Given the description of an element on the screen output the (x, y) to click on. 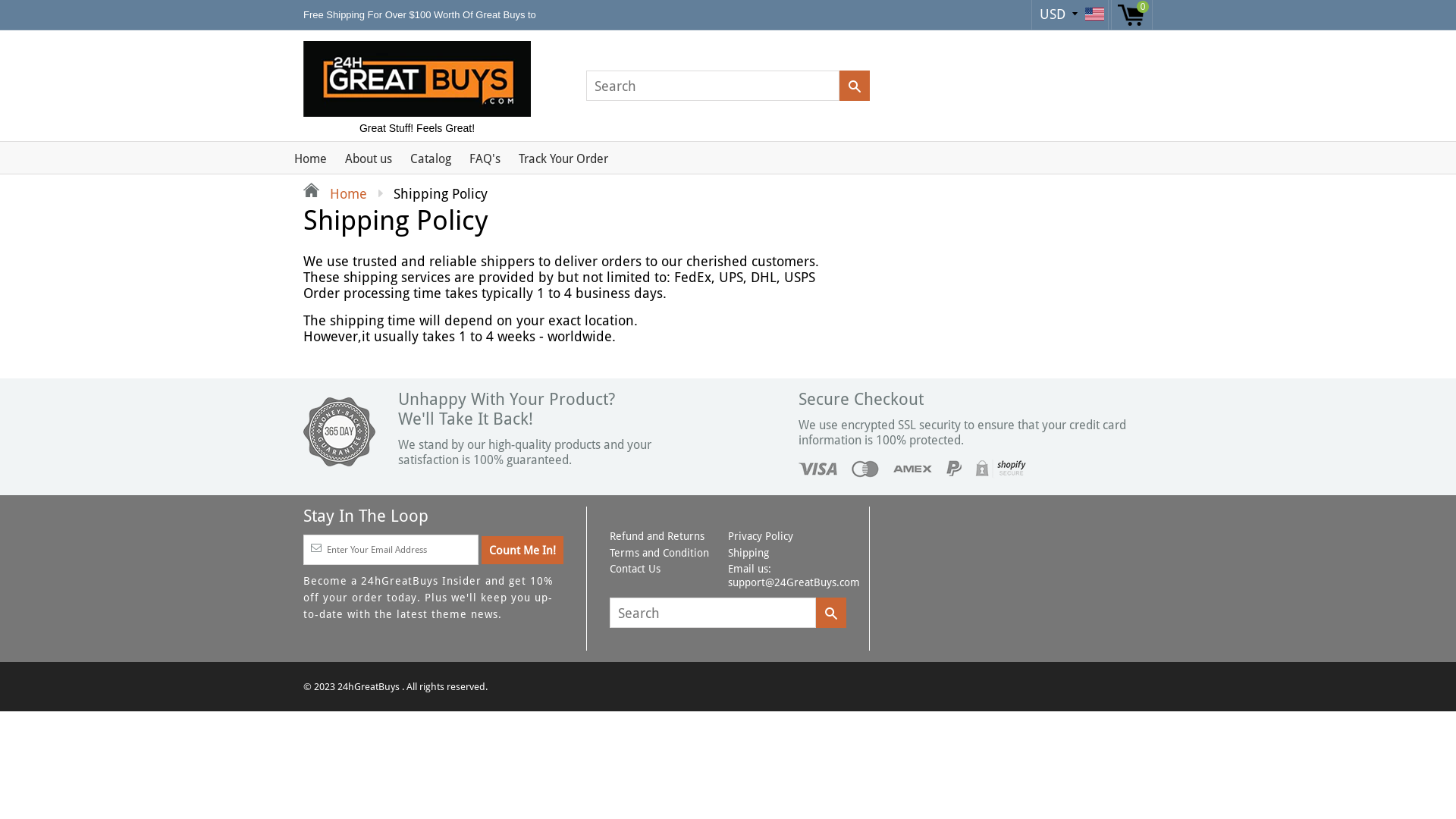
Track Your Order Element type: text (563, 155)
Free Shipping For Over $100 Worth Of Great Buys to   Element type: text (422, 15)
Shipping Element type: text (748, 552)
Contact Us Element type: text (634, 568)
 Home Element type: text (335, 193)
0 Element type: text (1131, 15)
24hGreatBuys Element type: text (369, 686)
Email us: support@24GreatBuys.com Element type: text (793, 575)
Privacy Policy Element type: text (760, 536)
Terms and Condition Element type: text (659, 552)
About us Element type: text (368, 155)
Catalog Element type: text (430, 155)
Home Element type: text (310, 155)
FAQ's Element type: text (484, 155)
Count Me In! Element type: text (522, 550)
Refund and Returns Element type: text (656, 536)
